Given the description of an element on the screen output the (x, y) to click on. 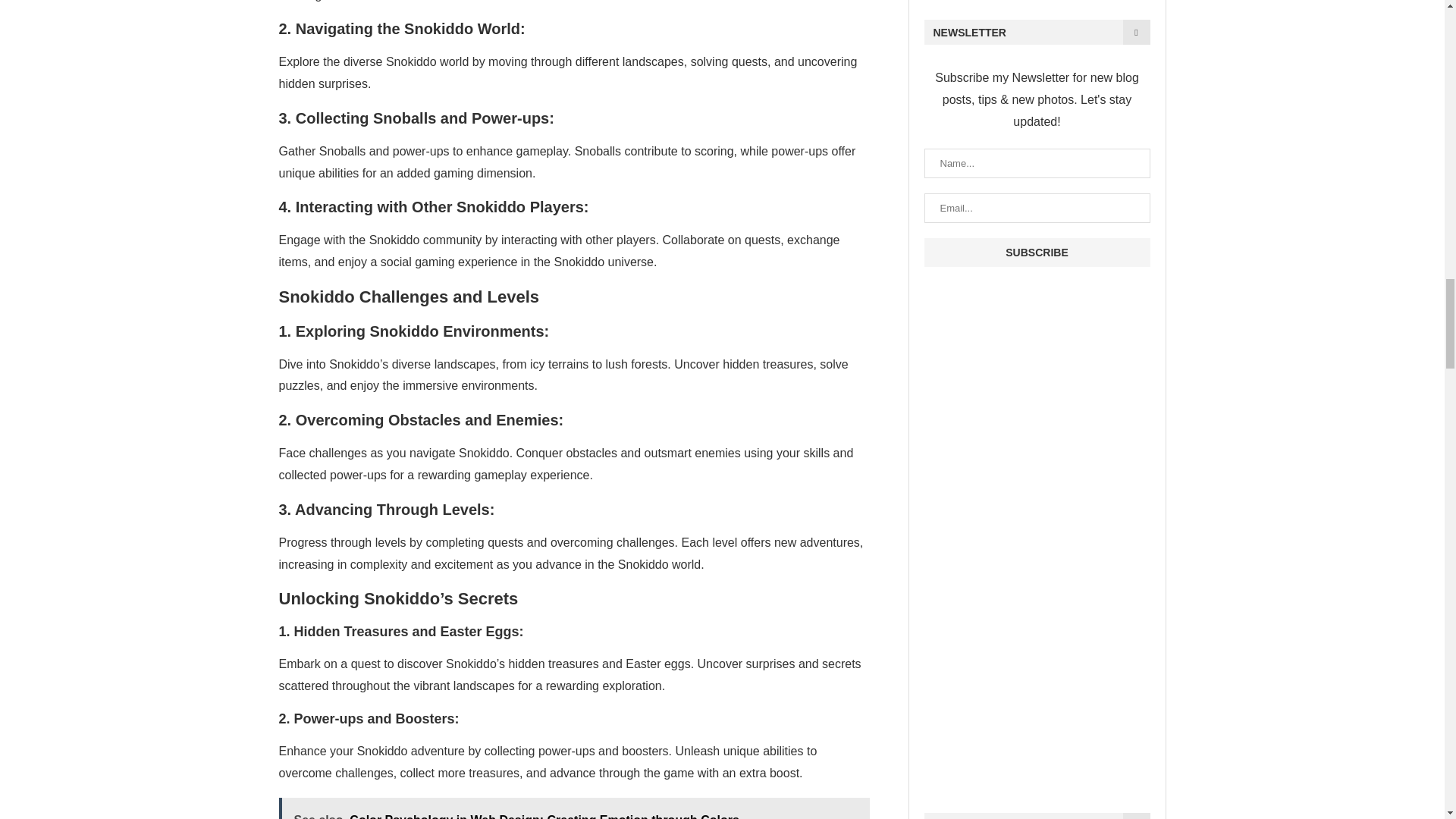
Subscribe (1036, 252)
